Given the description of an element on the screen output the (x, y) to click on. 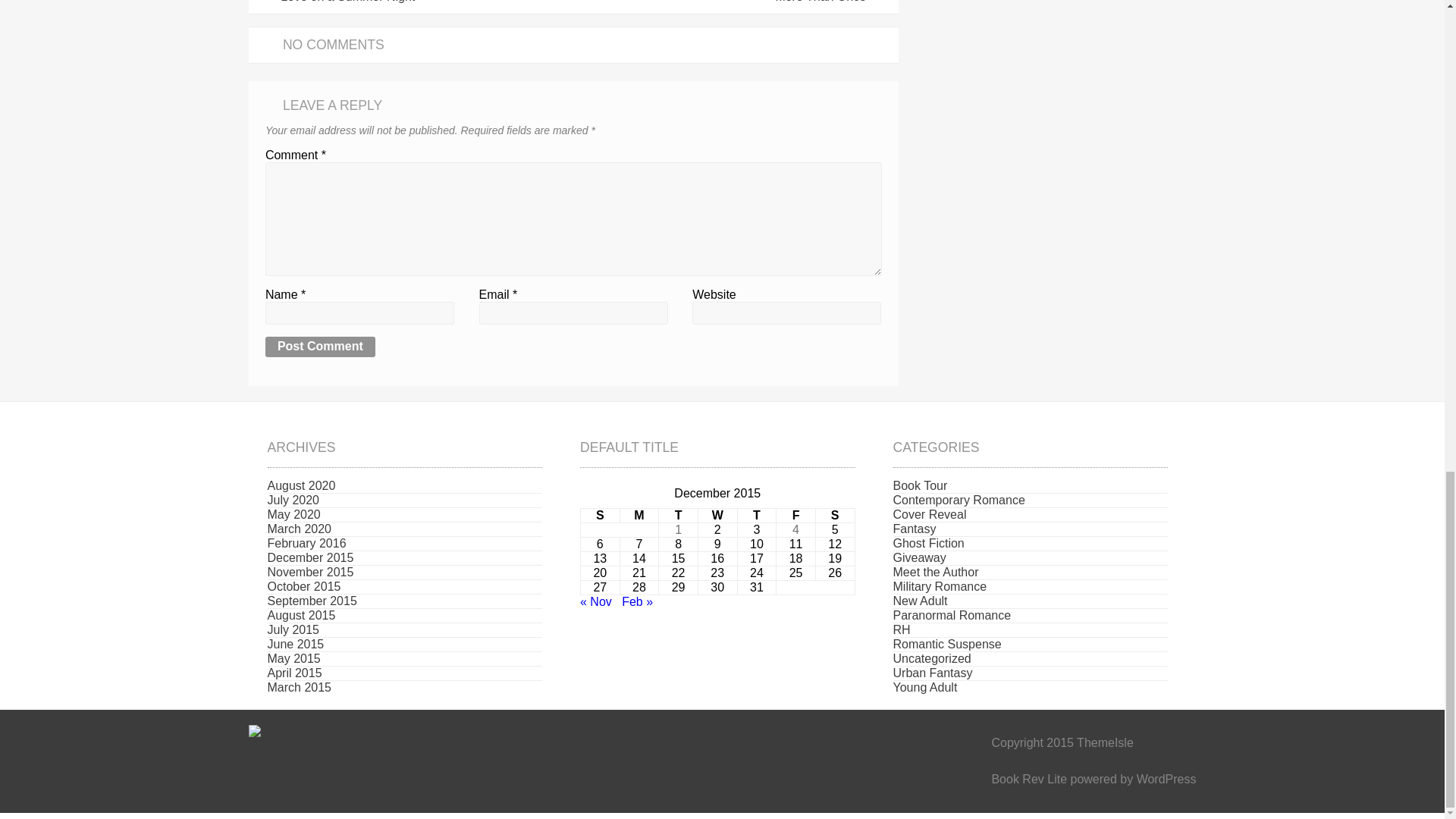
Monday (639, 514)
Post Comment (319, 346)
Tuesday (678, 514)
Post Comment (319, 346)
Sunday (600, 514)
Friday (795, 514)
Wednesday (716, 514)
Saturday (834, 514)
Thursday (756, 514)
